Given the description of an element on the screen output the (x, y) to click on. 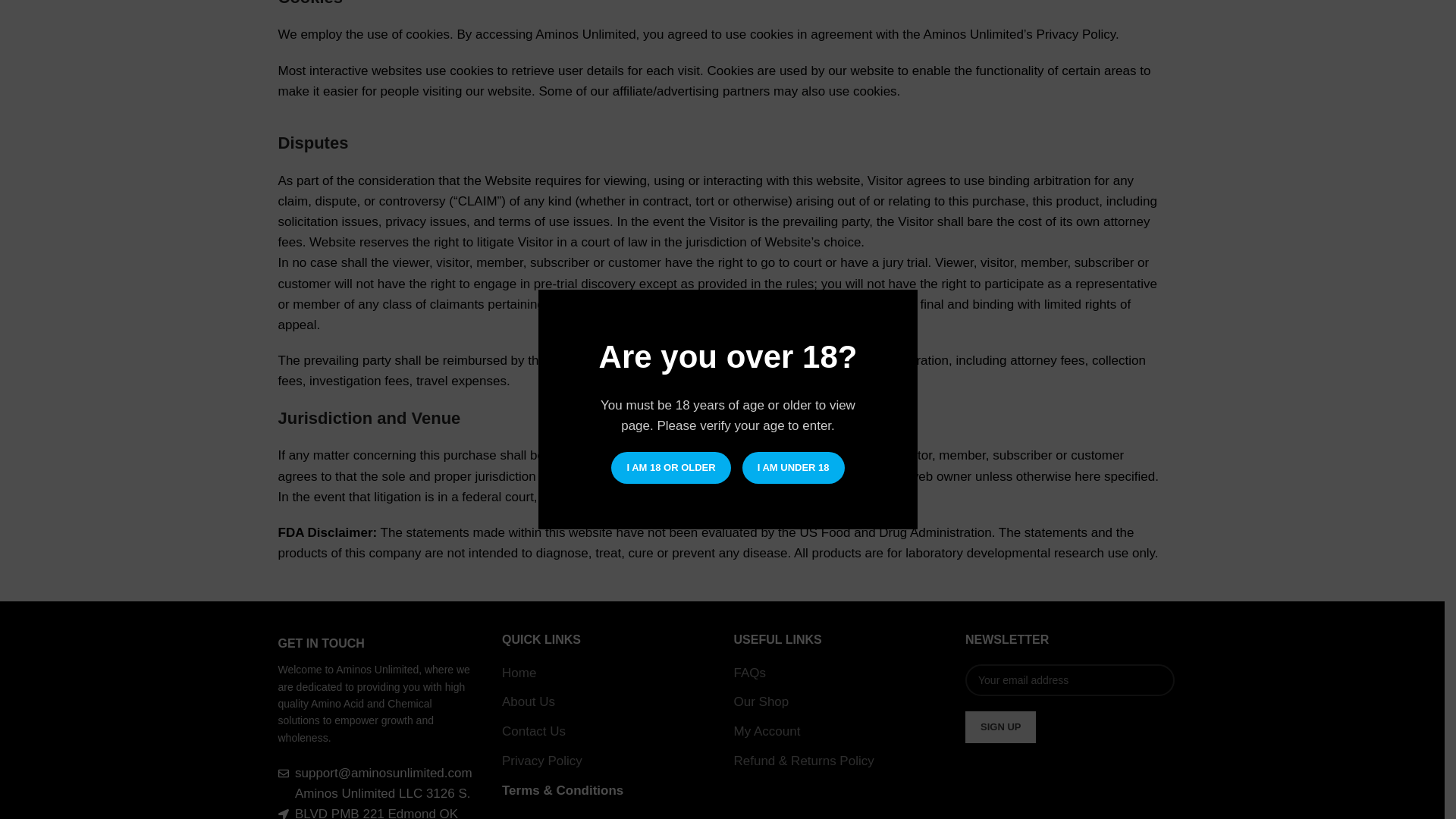
Sign up (1000, 726)
